Given the description of an element on the screen output the (x, y) to click on. 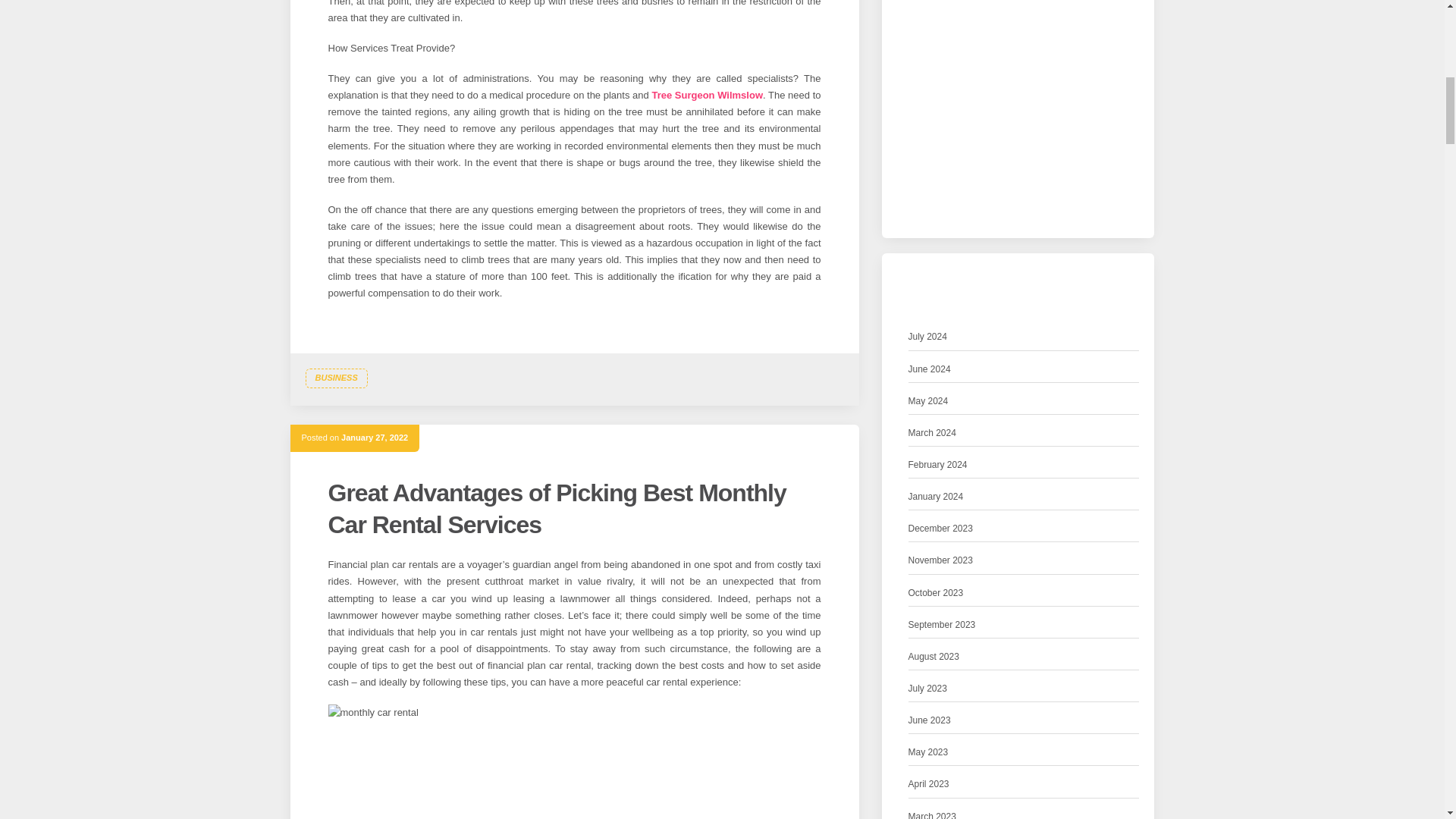
Great Advantages of Picking Best Monthly Car Rental Services (556, 508)
BUSINESS (335, 378)
January 27, 2022 (373, 437)
Tree Surgeon Wilmslow (706, 94)
